Given the description of an element on the screen output the (x, y) to click on. 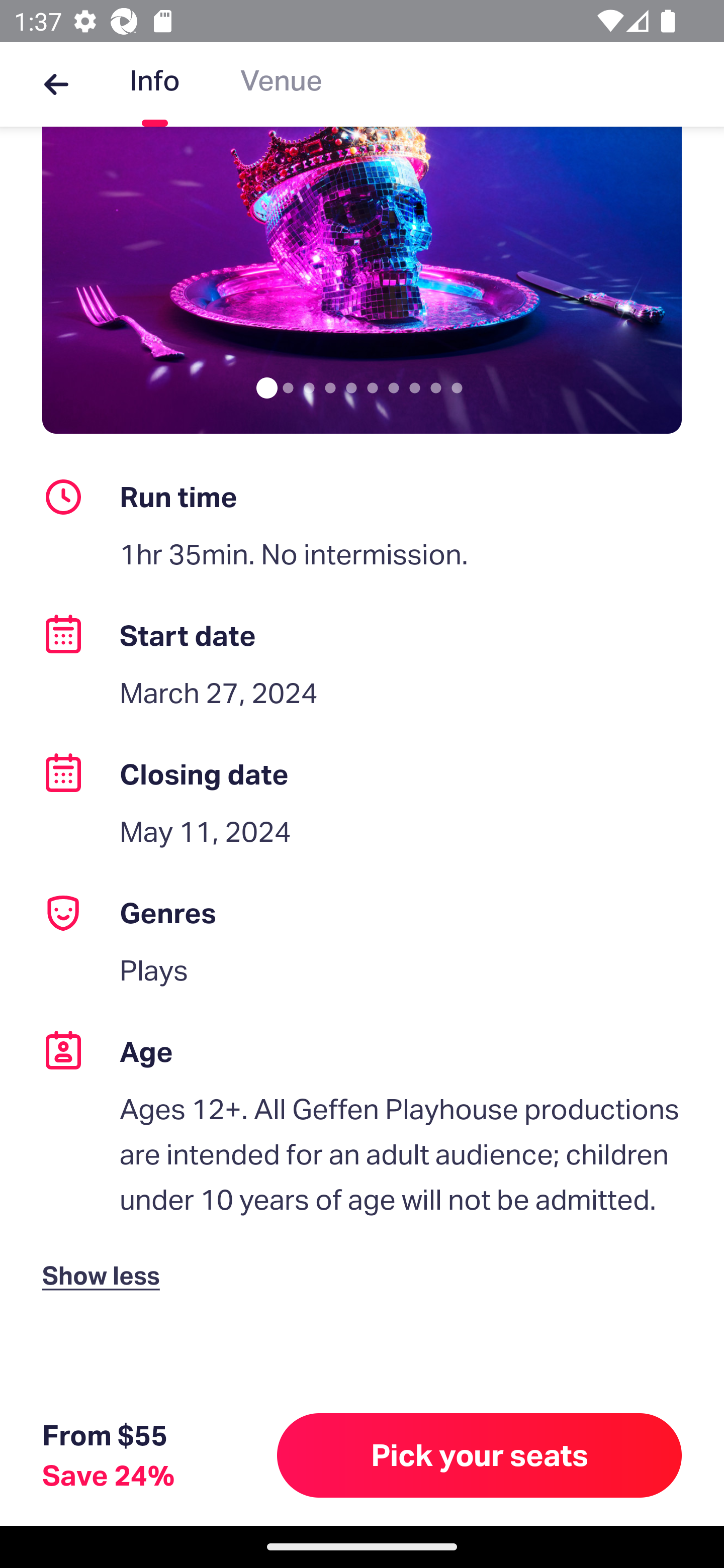
Venue (280, 84)
Show less (104, 1258)
Pick your seats (479, 1454)
